Given the description of an element on the screen output the (x, y) to click on. 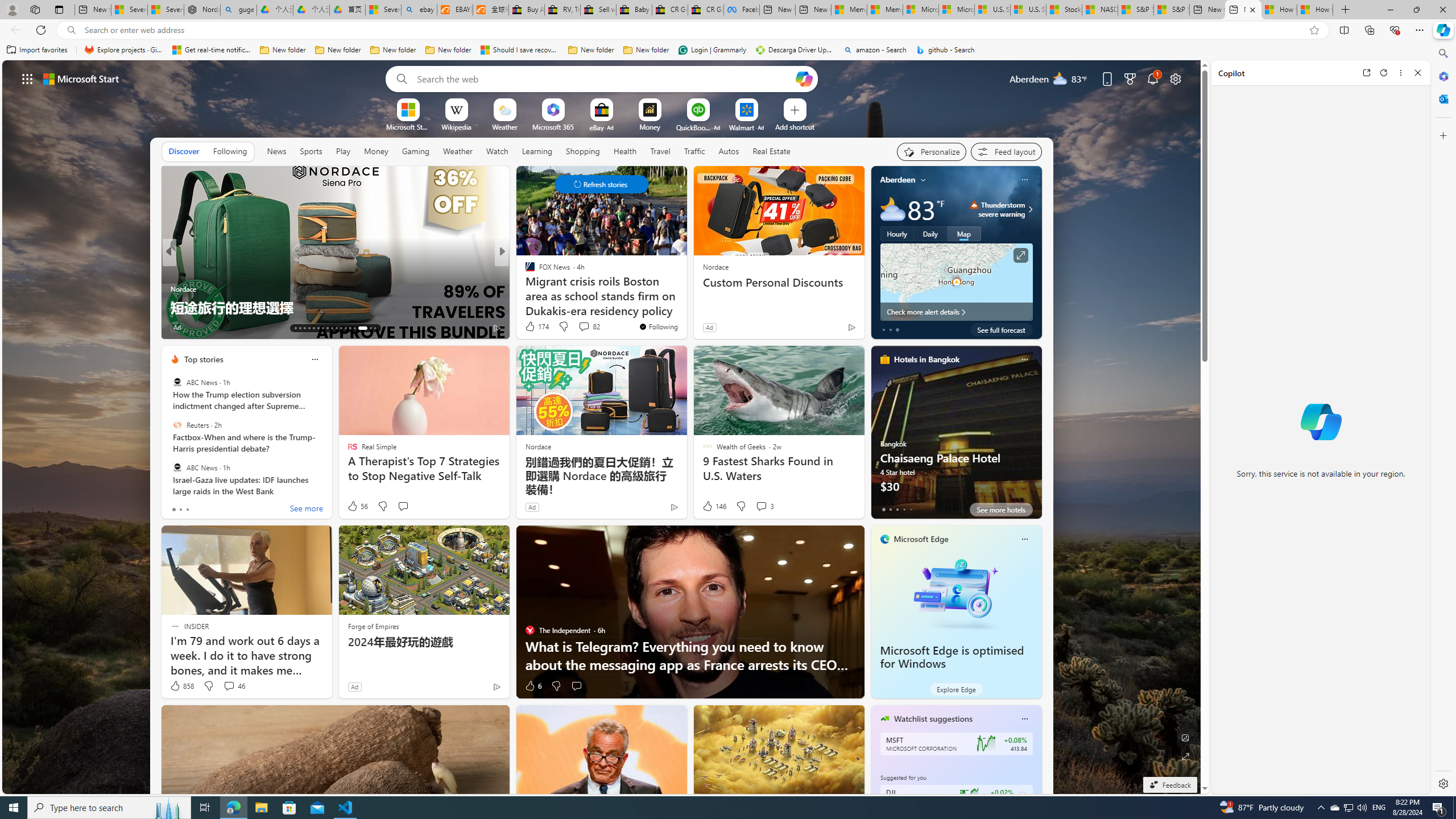
Ad (354, 686)
Outlook (1442, 98)
Aberdeen (897, 179)
Sports (310, 151)
Money (376, 151)
Map (963, 233)
Favorites bar (715, 49)
Shopping (582, 151)
AutomationID: tab-18 (317, 328)
AutomationID: tab-16 (309, 328)
Hide this story (128, 179)
Dislike (556, 685)
AutomationID: backgroundImagePicture (601, 426)
